Given the description of an element on the screen output the (x, y) to click on. 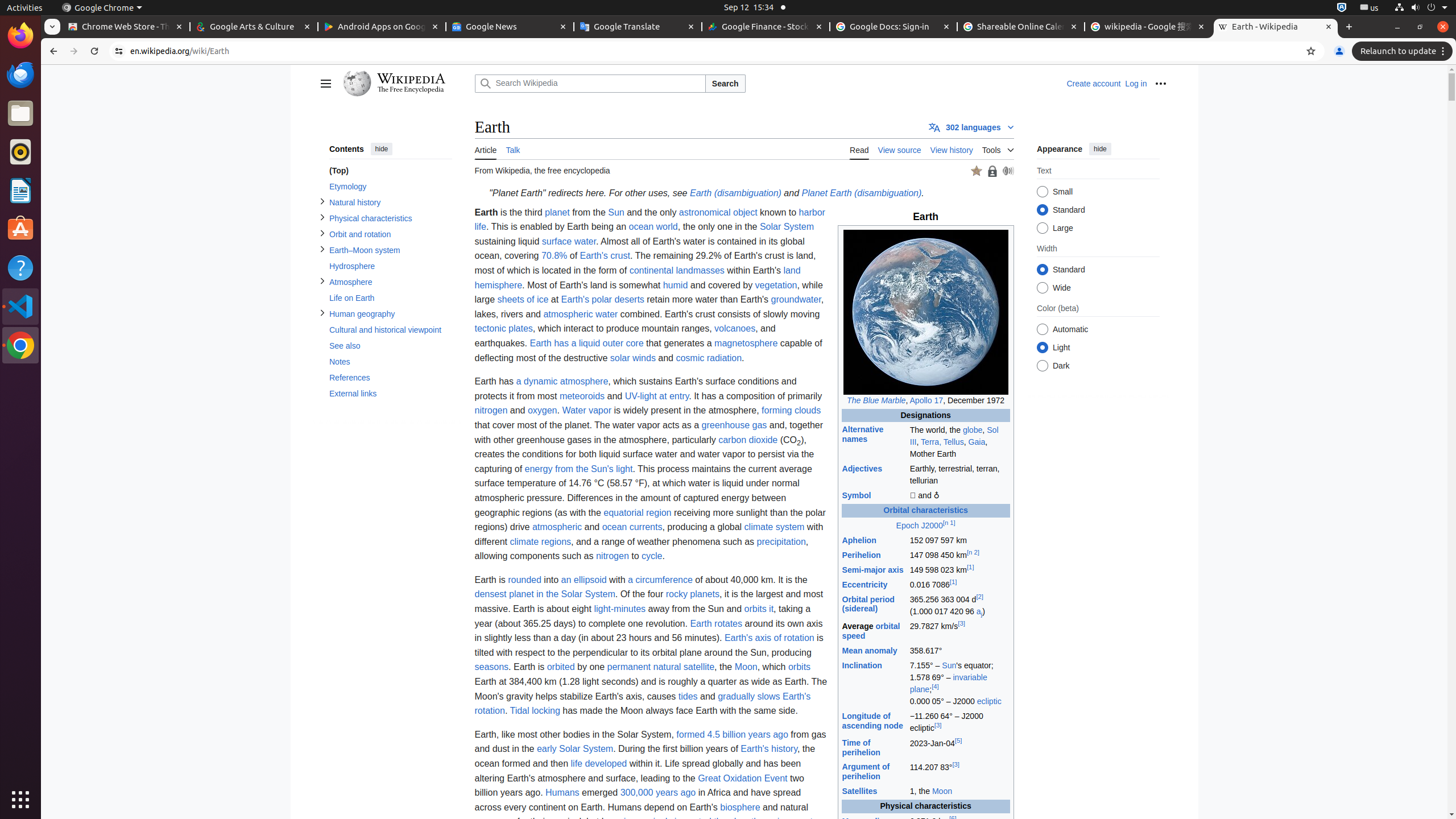
Toggle Physical characteristics subsection Element type: push-button (321, 217)
0.0167086[1] Element type: table-cell (959, 585)
deserts Element type: link (629, 299)
You Element type: push-button (1339, 50)
Personal tools Element type: push-button (1160, 83)
